Given the description of an element on the screen output the (x, y) to click on. 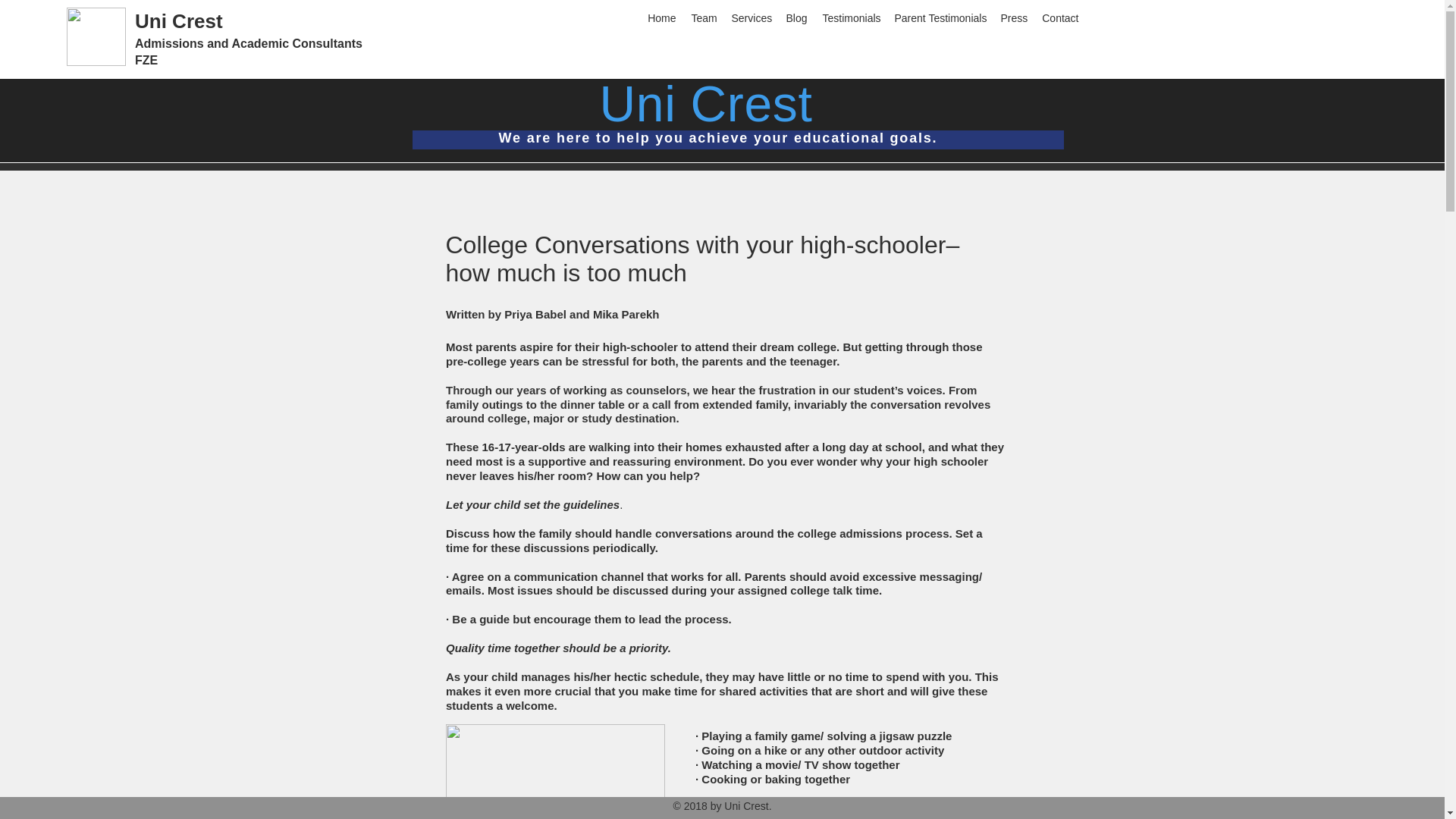
Home (662, 17)
Uni Crest Logo.jpg (95, 36)
Contact (1059, 17)
Blog (796, 17)
Team (703, 17)
Press (1012, 17)
Parent Testimonials (939, 17)
Testimonials (849, 17)
Services (750, 17)
